Given the description of an element on the screen output the (x, y) to click on. 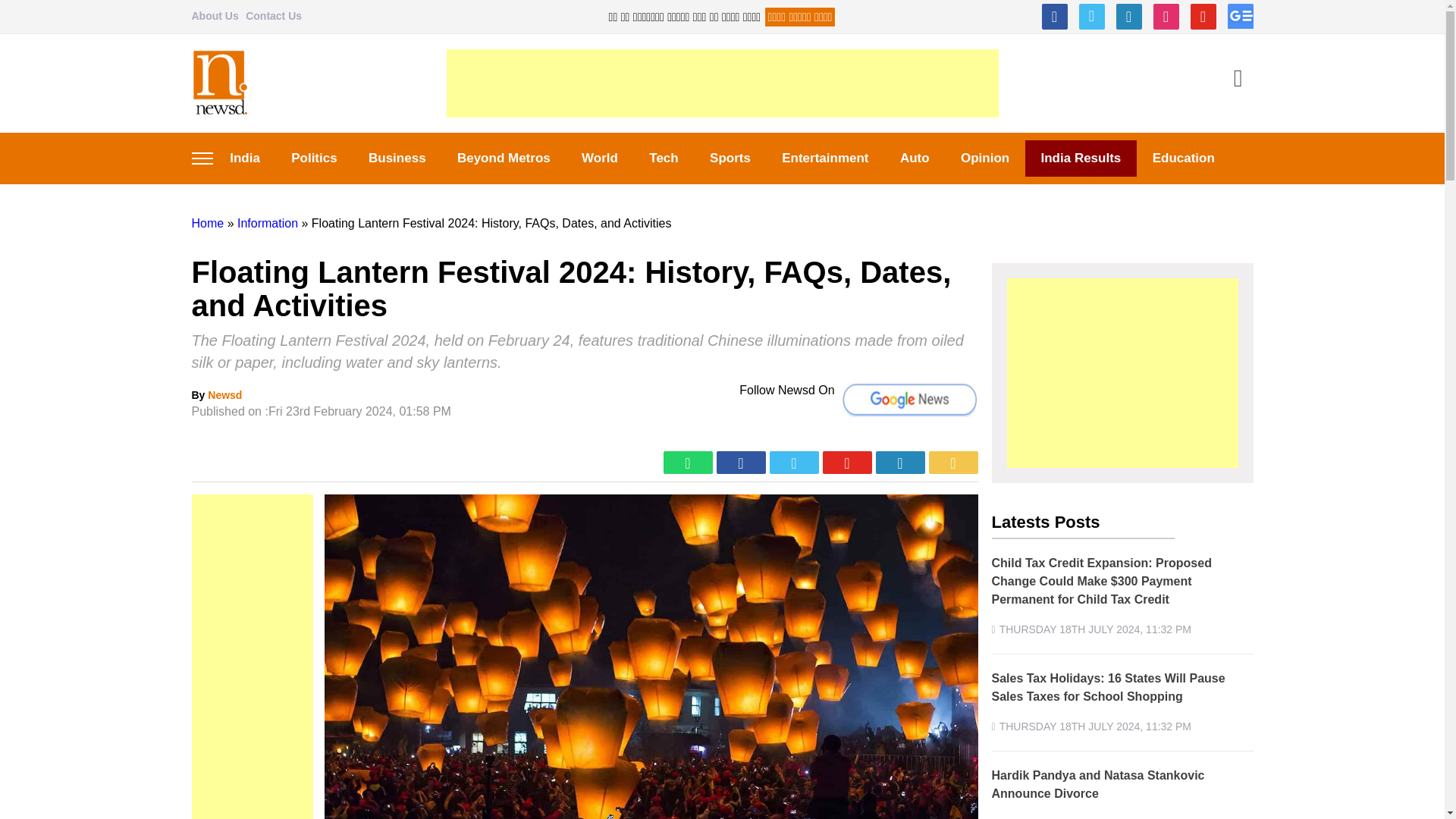
World (599, 158)
About Us (214, 15)
India (244, 158)
Auto (913, 158)
Entertainment (826, 158)
Facebook (1054, 16)
India (244, 158)
Contact Us (273, 15)
Instagram (1165, 16)
Search (1237, 79)
Entertainment (826, 158)
Advertisement (721, 83)
Business (396, 158)
Contact Us (273, 15)
Business (396, 158)
